Given the description of an element on the screen output the (x, y) to click on. 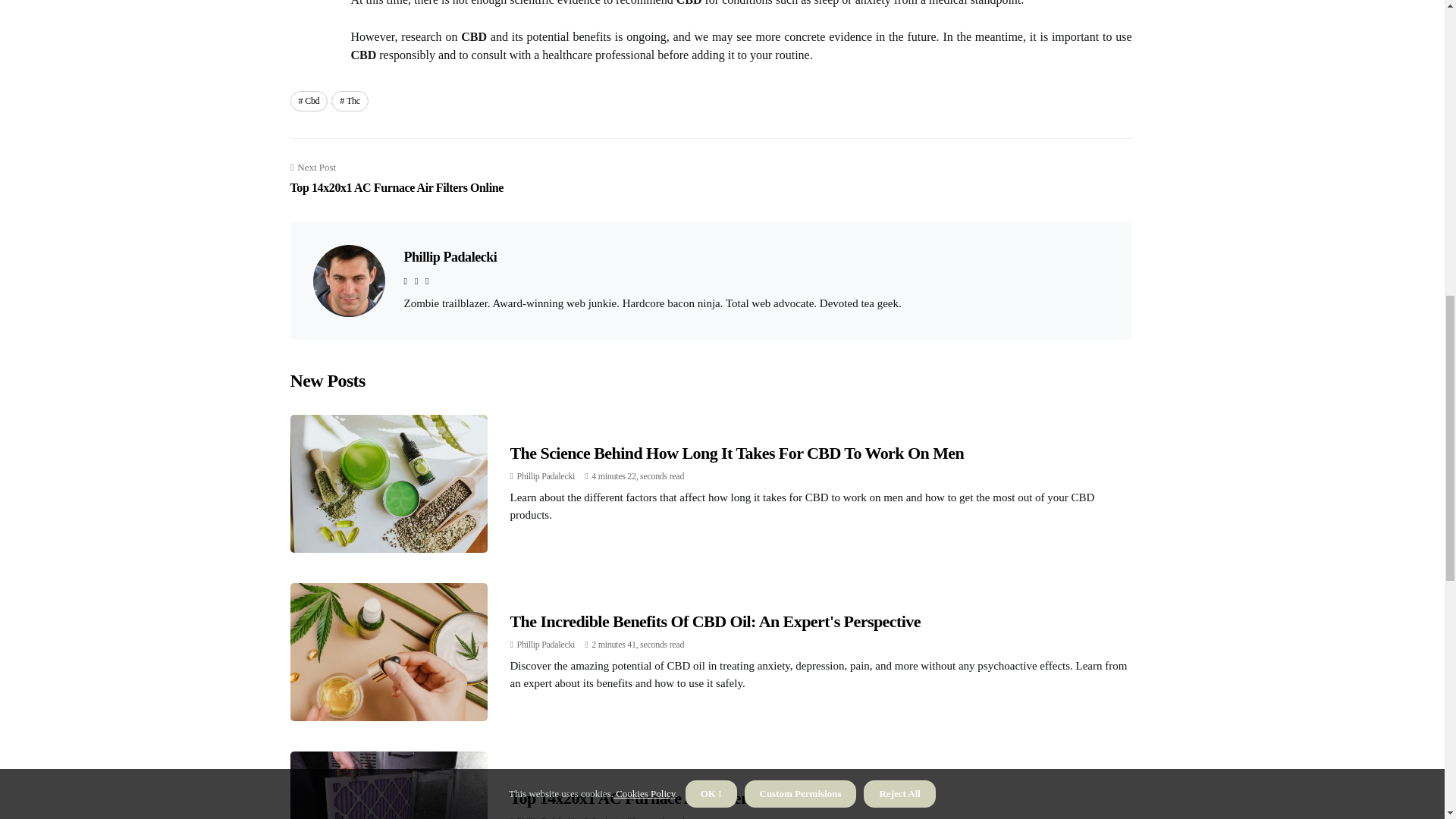
Phillip Padalecki (449, 256)
Cbd (308, 100)
Phillip Padalecki (545, 475)
Posts by Phillip Padalecki (545, 475)
Thc (349, 100)
The Incredible Benefits Of CBD Oil: An Expert'S Perspective (395, 178)
Posts by Phillip Padalecki (714, 620)
Phillip Padalecki (545, 644)
Posts by Phillip Padalecki (545, 644)
The Science Behind How Long It Takes For CBD To Work On Men (545, 817)
Phillip Padalecki (736, 452)
Top 14x20x1 AC Furnace Air Filters Online (545, 817)
